Given the description of an element on the screen output the (x, y) to click on. 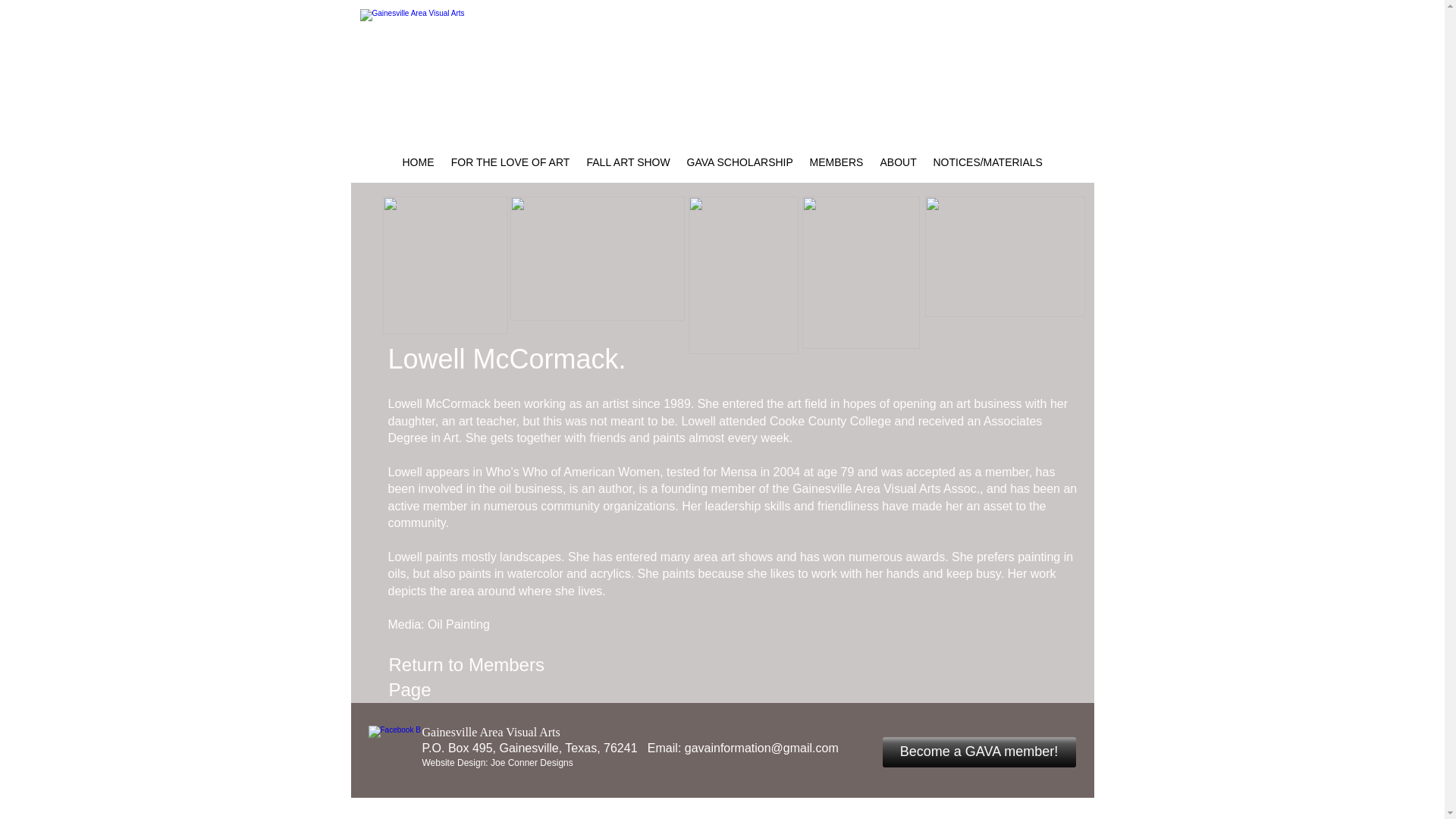
MEMBERS (835, 162)
Joe Conner Designs (531, 762)
Become a GAVA member! (978, 752)
HOME (418, 162)
GAVA SCHOLARSHIP (739, 162)
FALL ART SHOW (628, 162)
Return to Members Page (465, 681)
FOR THE LOVE OF ART (510, 162)
ABOUT (898, 162)
